Given the description of an element on the screen output the (x, y) to click on. 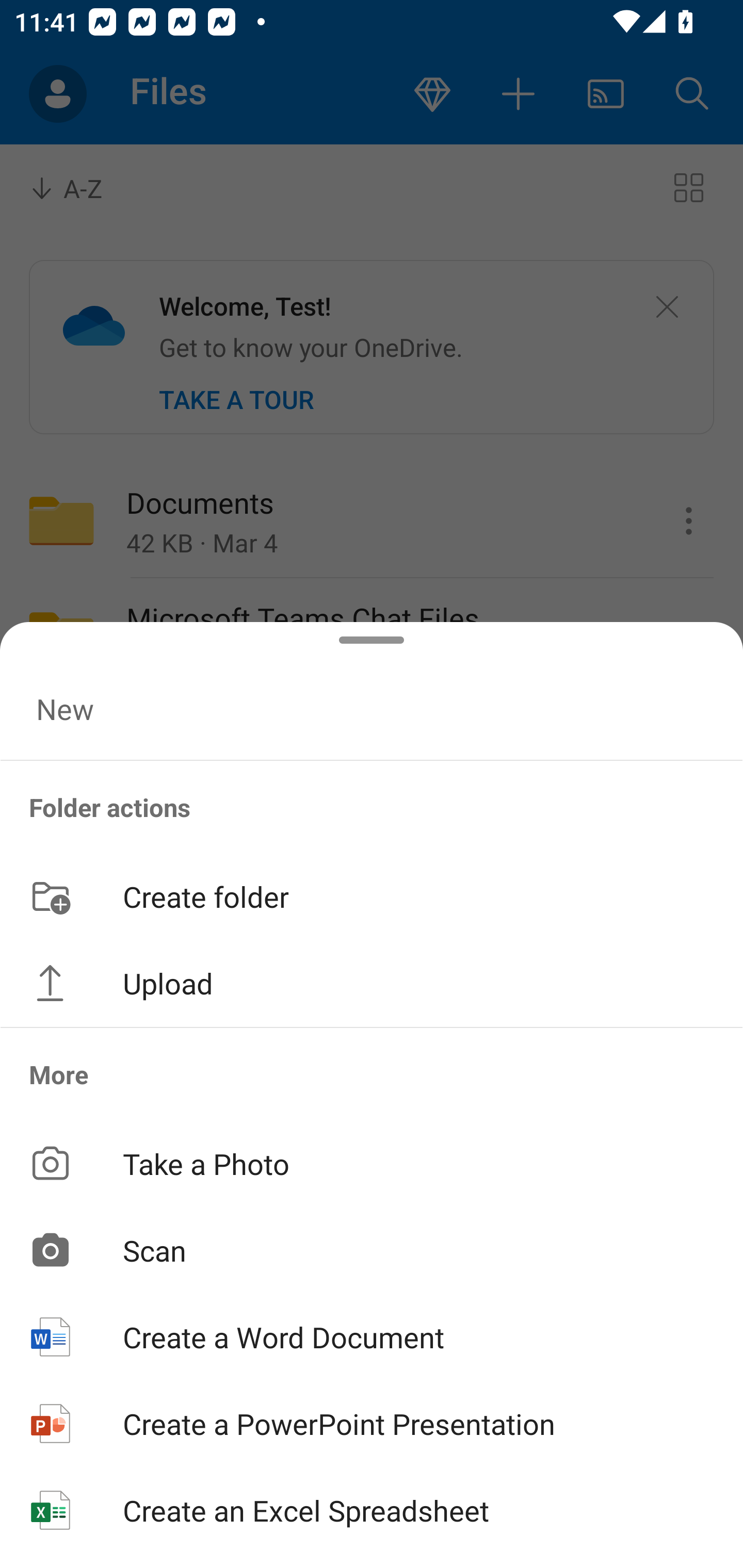
Create folder button Create folder (371, 895)
Upload button Upload (371, 983)
Take a Photo button Take a Photo (371, 1163)
Scan button Scan (371, 1250)
